Given the description of an element on the screen output the (x, y) to click on. 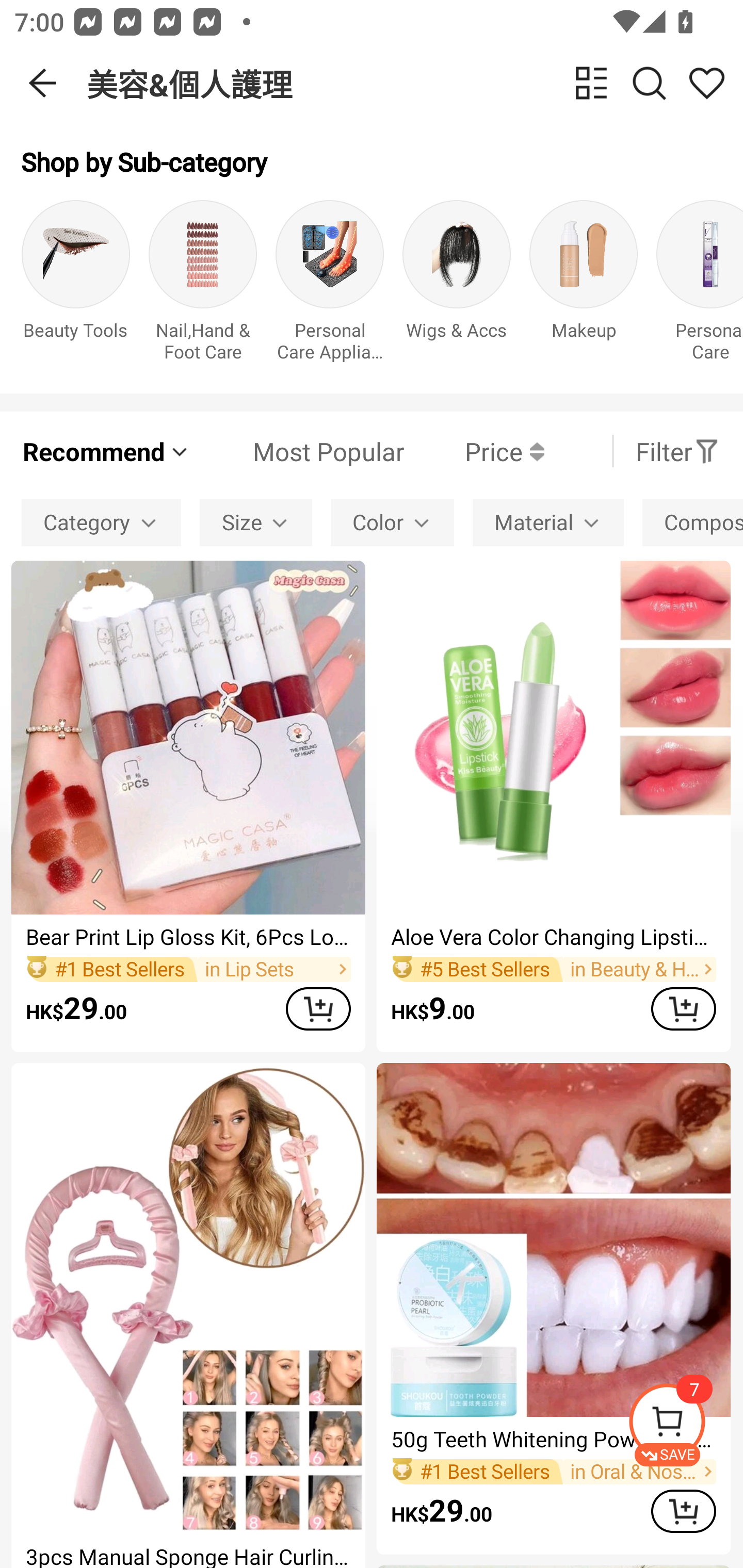
美容&個人護理 change view Search Share (414, 82)
change view (591, 82)
Search (648, 82)
Share (706, 82)
Beauty Tools (75, 285)
Nail,Hand & Foot Care (202, 285)
Personal Care Appliance (329, 285)
Wigs & Accs (456, 285)
Makeup (583, 285)
Personal Care (699, 285)
Recommend (106, 450)
Most Popular (297, 450)
Price (474, 450)
Filter (677, 450)
Category (101, 521)
Size (255, 521)
Color (391, 521)
Material (548, 521)
Composition (692, 521)
#1 Best Sellers in Lip Sets (188, 968)
#5 Best Sellers in Beauty & Health (553, 968)
ADD TO CART (318, 1008)
ADD TO CART (683, 1008)
SAVE (685, 1424)
#1 Best Sellers in Oral & Nose Care (553, 1471)
ADD TO CART (683, 1511)
